Given the description of an element on the screen output the (x, y) to click on. 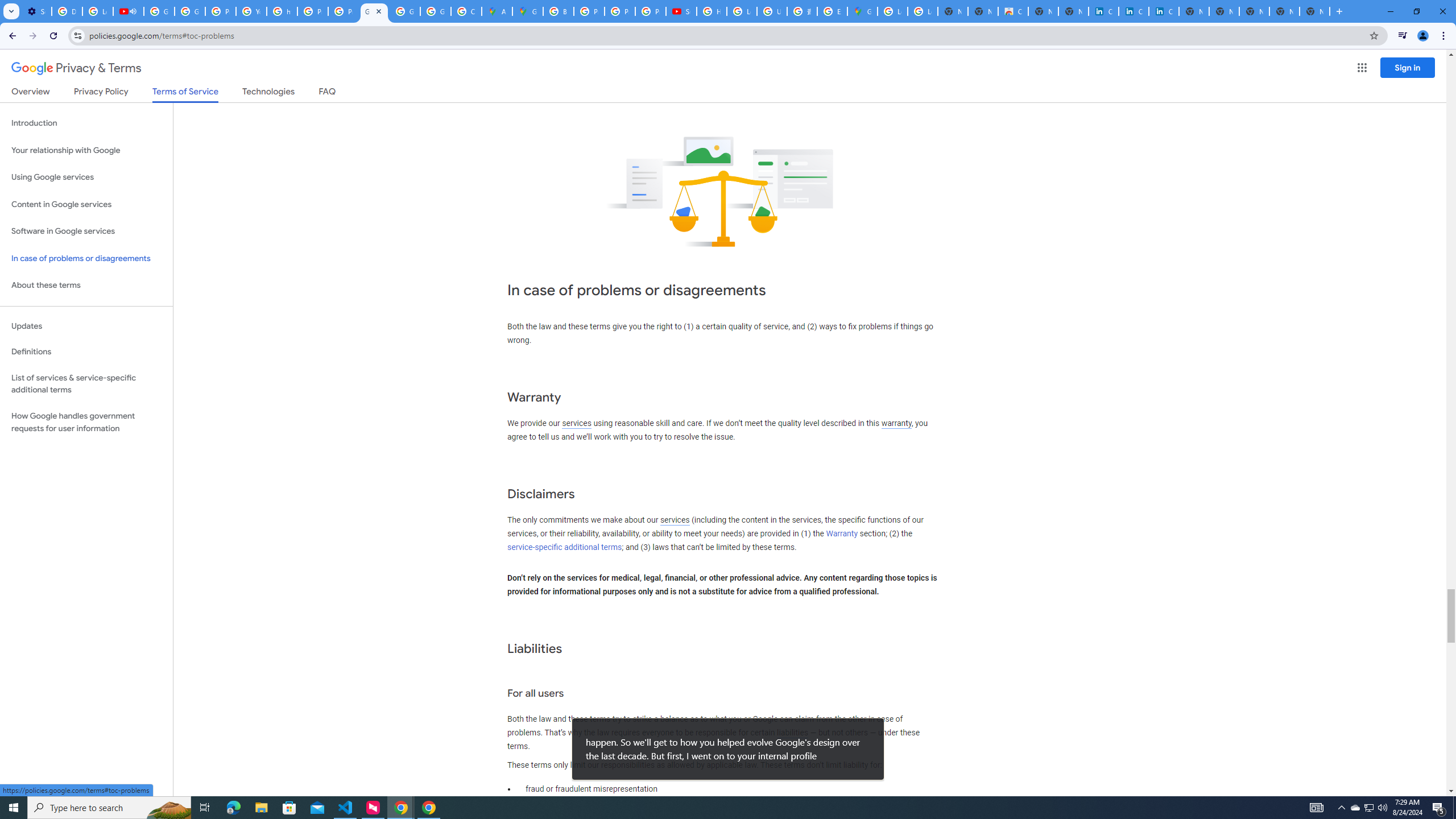
Using Google services (86, 176)
Privacy Help Center - Policies Help (220, 11)
Copyright Policy (1163, 11)
Settings - Customize profile (36, 11)
How Google handles government requests for user information (86, 422)
New Tab (1314, 11)
How Chrome protects your passwords - Google Chrome Help (711, 11)
Explore new street-level details - Google Maps Help (832, 11)
Cookie Policy | LinkedIn (1103, 11)
